Given the description of an element on the screen output the (x, y) to click on. 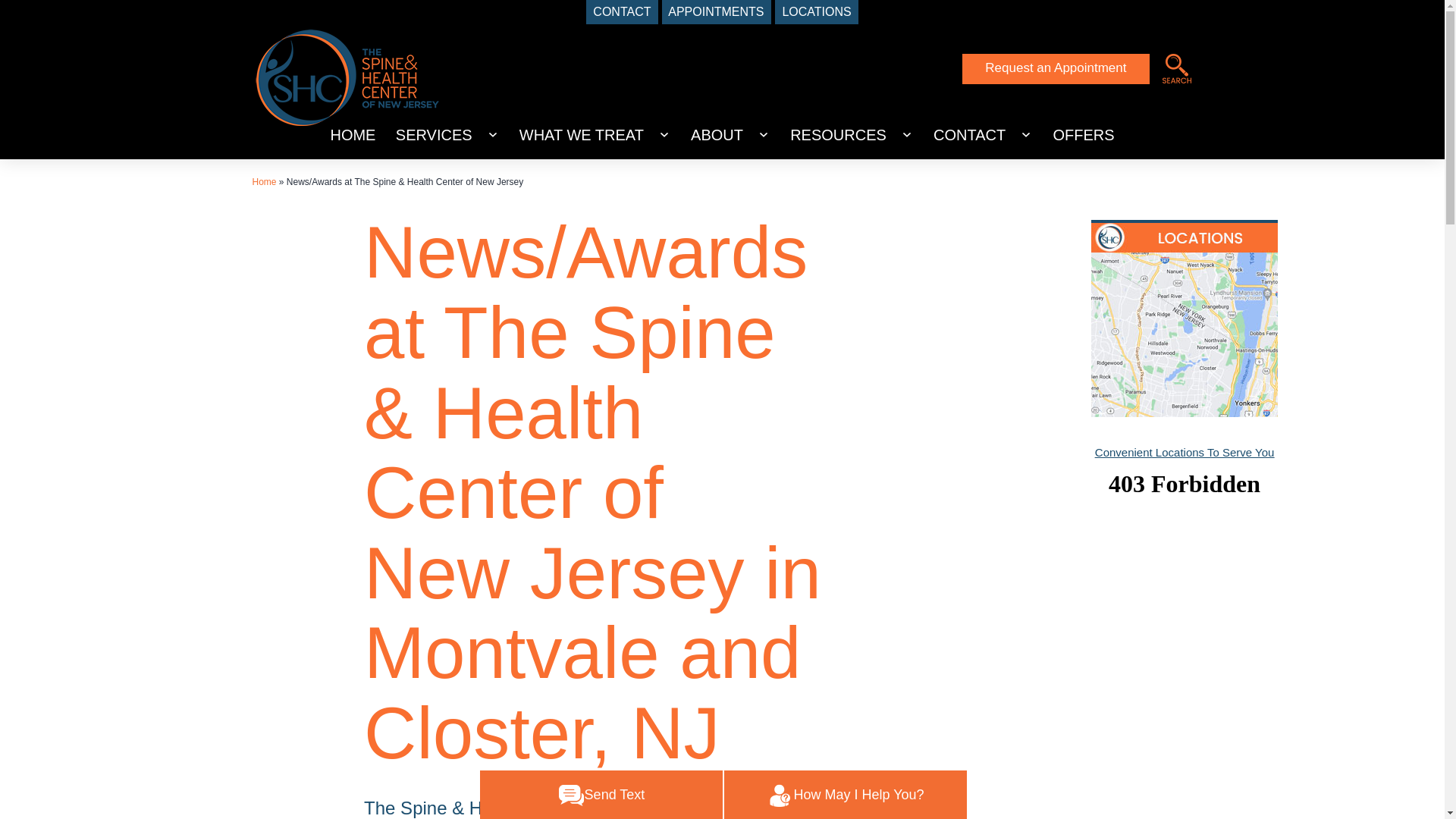
Request an Appointment (1055, 69)
HOME (352, 135)
Open menu (664, 135)
WHAT WE TREAT (581, 135)
CONTACT (622, 12)
APPOINTMENTS (716, 12)
Open menu (492, 135)
SERVICES (433, 135)
LOCATIONS (816, 12)
